Given the description of an element on the screen output the (x, y) to click on. 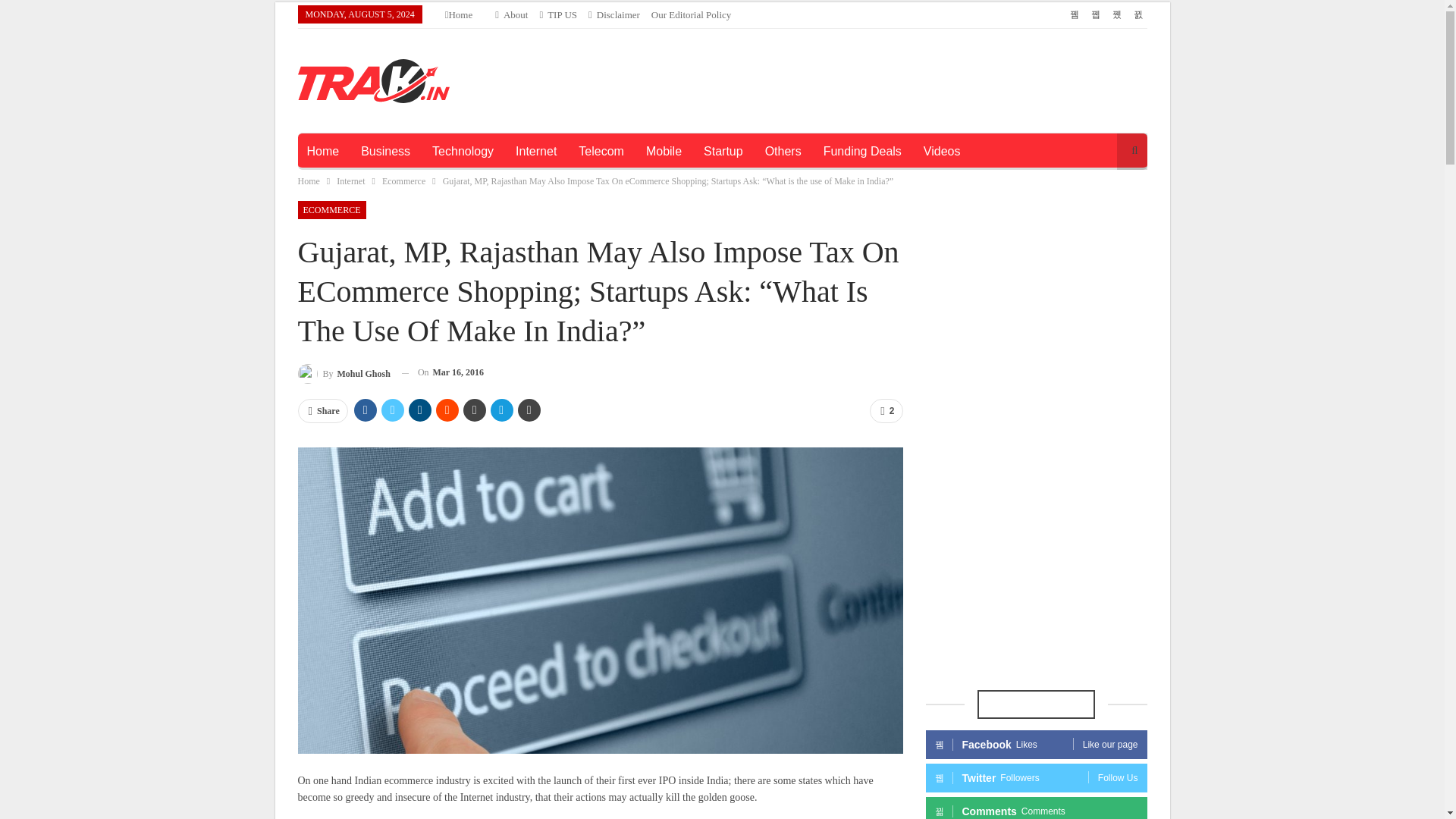
2 (885, 410)
Business (385, 151)
Our Editorial Policy (690, 14)
Funding Deals (862, 151)
Advertisement (866, 78)
ECOMMERCE (331, 209)
Internet (350, 180)
Telecom (601, 151)
TIP US (557, 14)
Get in Touch (557, 14)
Disclaimer (614, 14)
Internet (536, 151)
Home (322, 151)
About (511, 14)
Others (782, 151)
